Given the description of an element on the screen output the (x, y) to click on. 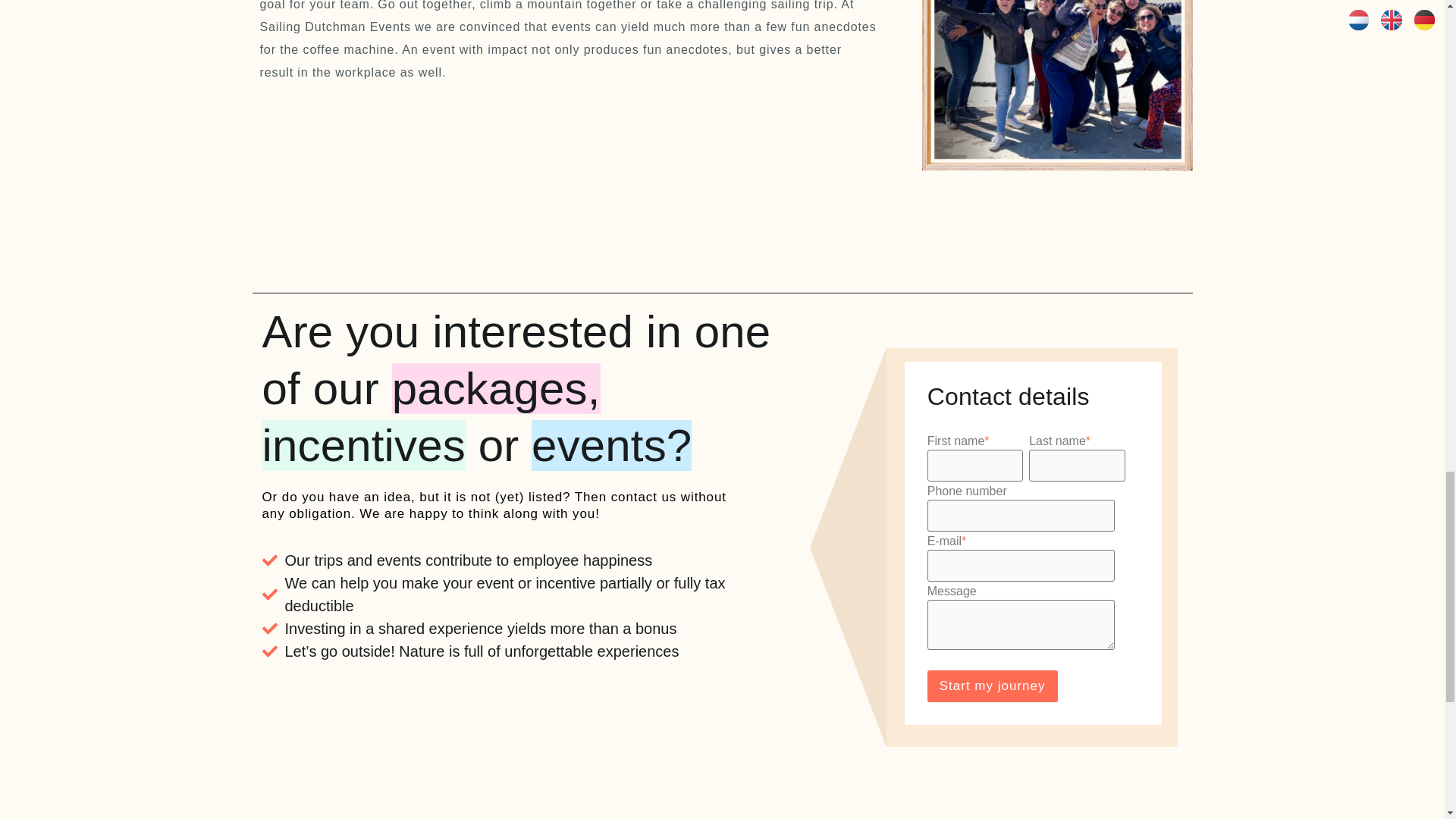
Our trips and events contribute to employee happiness (527, 559)
Start my journey (992, 685)
Investing in a shared experience yields more than a bonus (527, 628)
Start my journey (992, 685)
